Given the description of an element on the screen output the (x, y) to click on. 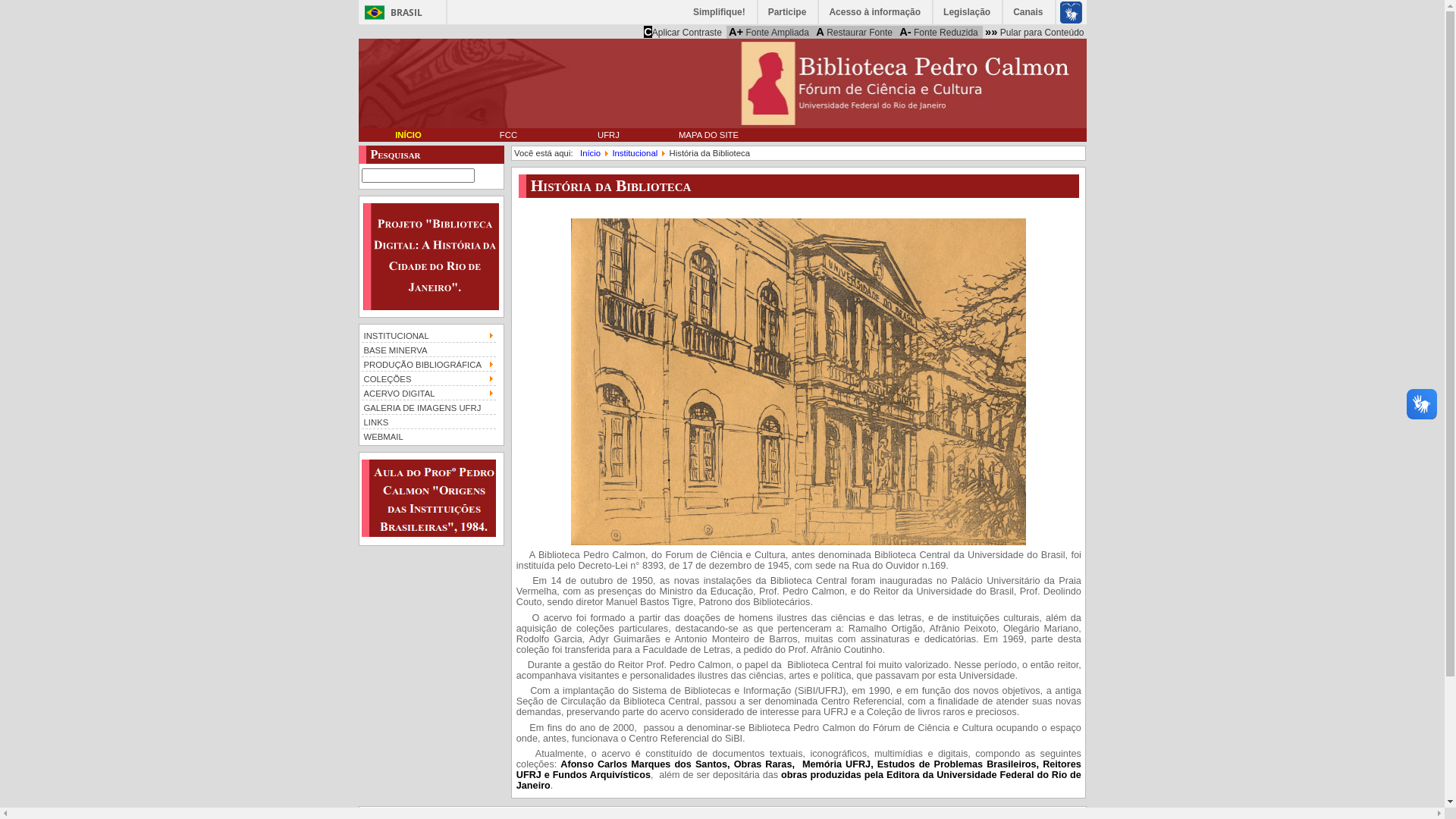
FCC Element type: text (508, 134)
MAPA DO SITE Element type: text (708, 134)
BRASIL Element type: text (389, 12)
LINKS Element type: text (427, 421)
Participe Element type: text (788, 11)
A+ Fonte Ampliada Element type: text (768, 31)
BASE MINERVA Element type: text (427, 349)
GALERIA DE IMAGENS UFRJ Element type: text (427, 406)
CAplicar Contraste Element type: text (682, 31)
WEBMAIL Element type: text (427, 435)
INSTITUCIONAL Element type: text (427, 335)
Simplifique! Element type: text (719, 11)
UFRJ Element type: text (608, 134)
Canais Element type: text (1028, 11)
A- Fonte Reduzida Element type: text (938, 31)
Institucional Element type: text (634, 152)
ACERVO DIGITAL Element type: text (427, 392)
A Restaurar Fonte Element type: text (853, 31)
